Given the description of an element on the screen output the (x, y) to click on. 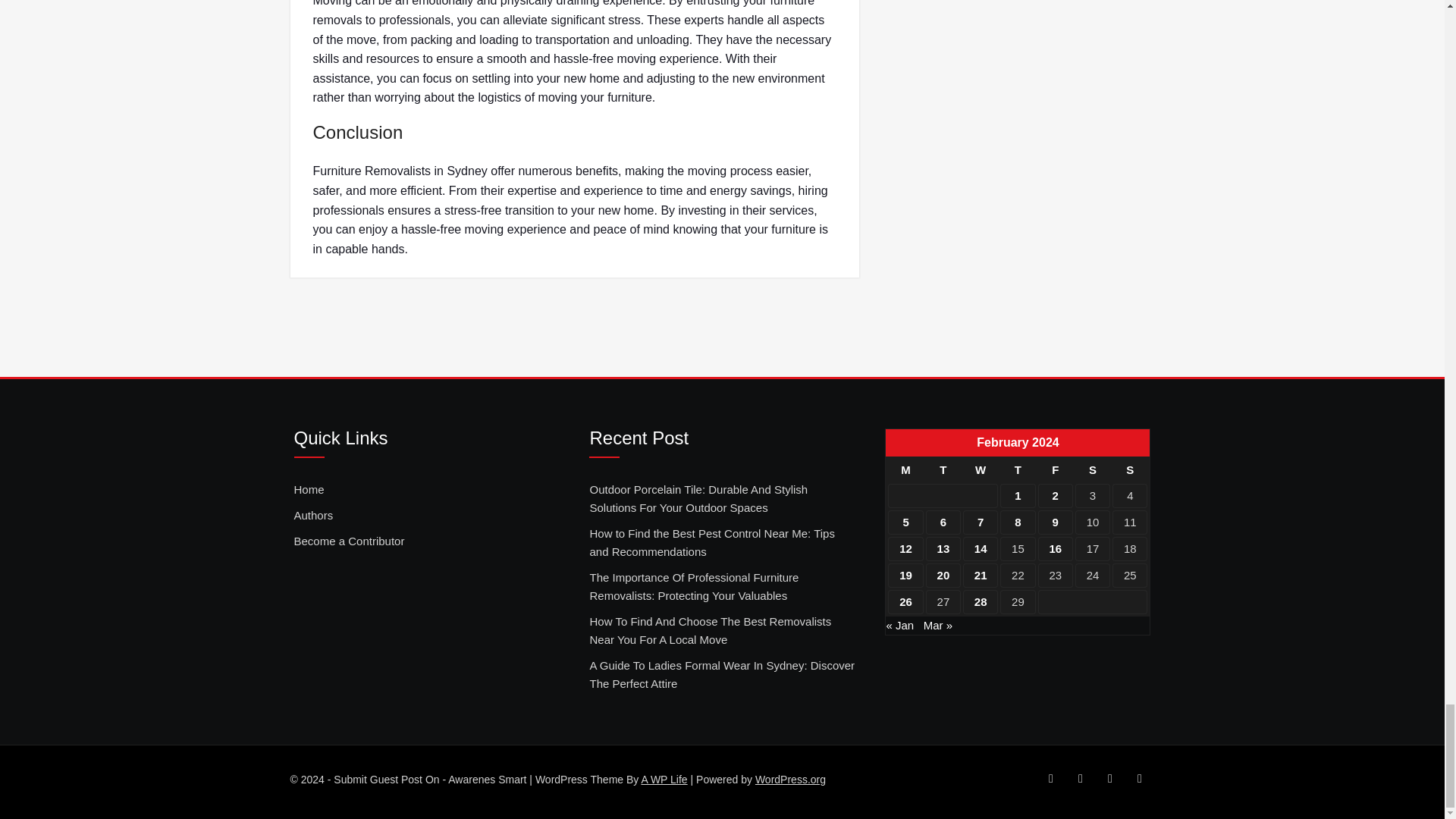
Wednesday (979, 469)
Monday (905, 469)
Sunday (1129, 469)
Thursday (1017, 469)
Tuesday (943, 469)
Friday (1055, 469)
Saturday (1092, 469)
